Given the description of an element on the screen output the (x, y) to click on. 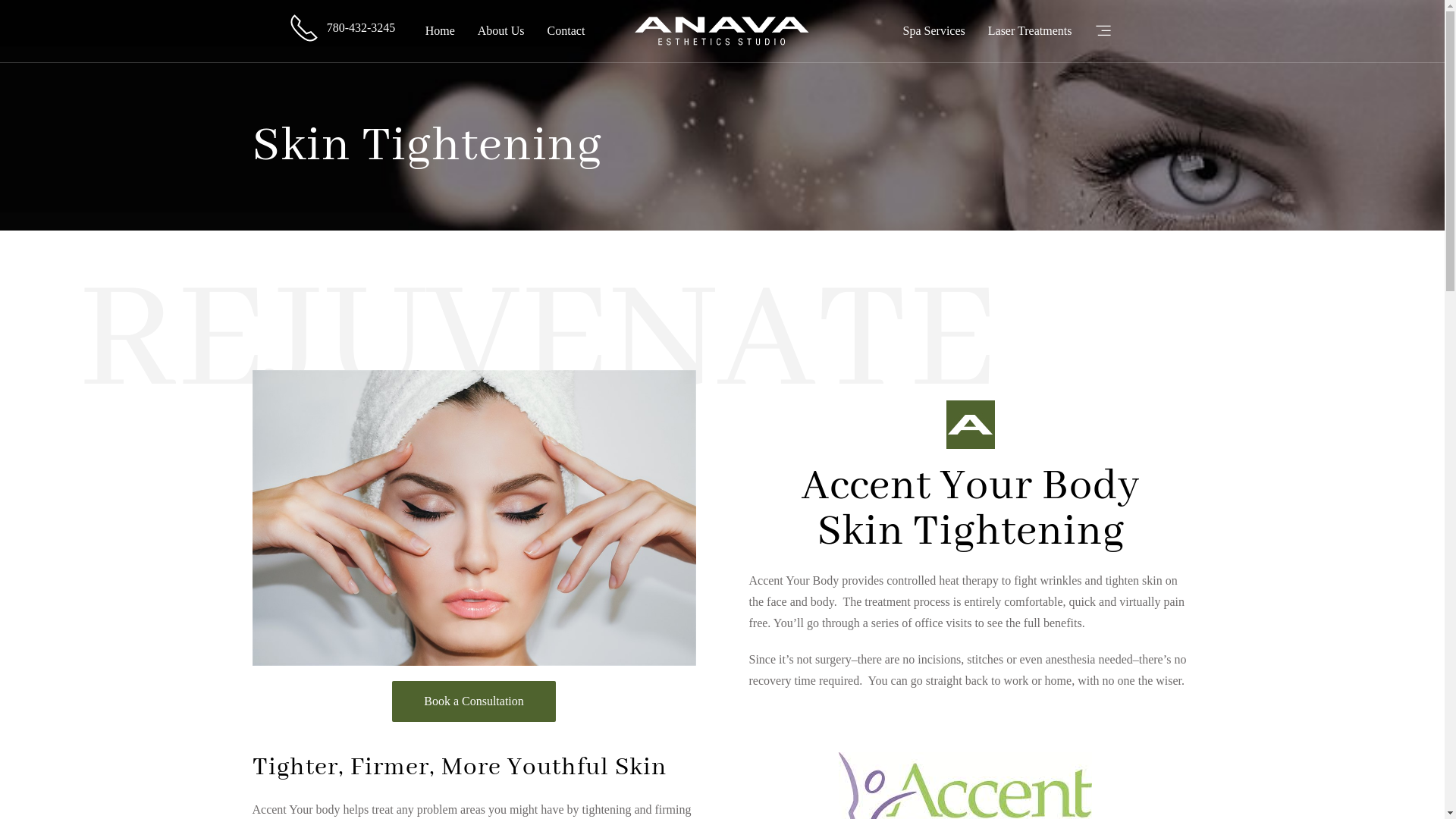
Book a Consultation Element type: text (473, 700)
Laser Treatments Element type: text (1030, 30)
Home Element type: text (440, 30)
A 64x64 Element type: hover (970, 424)
Contact Element type: text (566, 30)
About Us Element type: text (500, 30)
Spa Services Element type: text (934, 30)
